Given the description of an element on the screen output the (x, y) to click on. 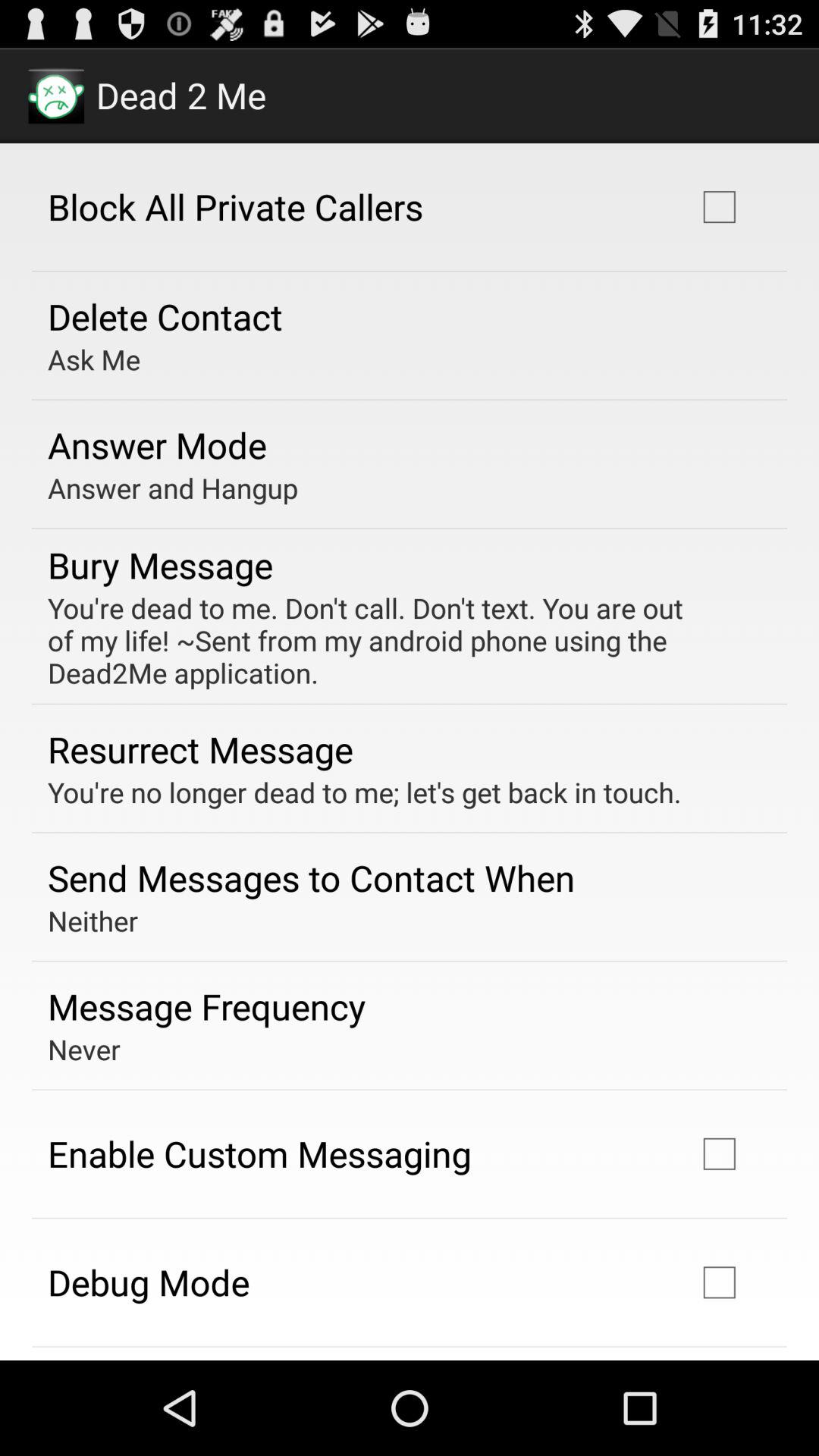
flip to debug mode (148, 1282)
